Given the description of an element on the screen output the (x, y) to click on. 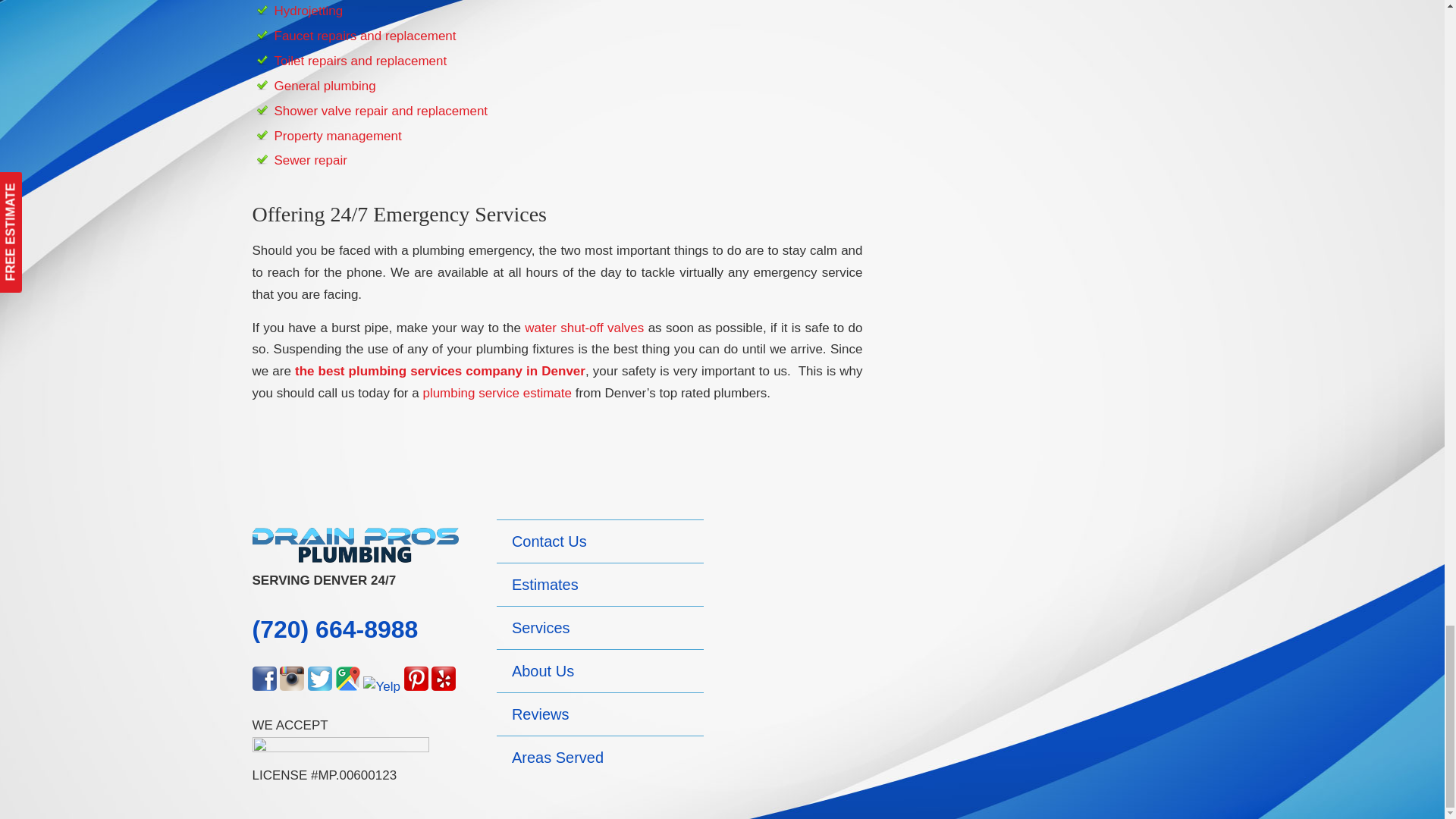
YouTube (380, 686)
